Given the description of an element on the screen output the (x, y) to click on. 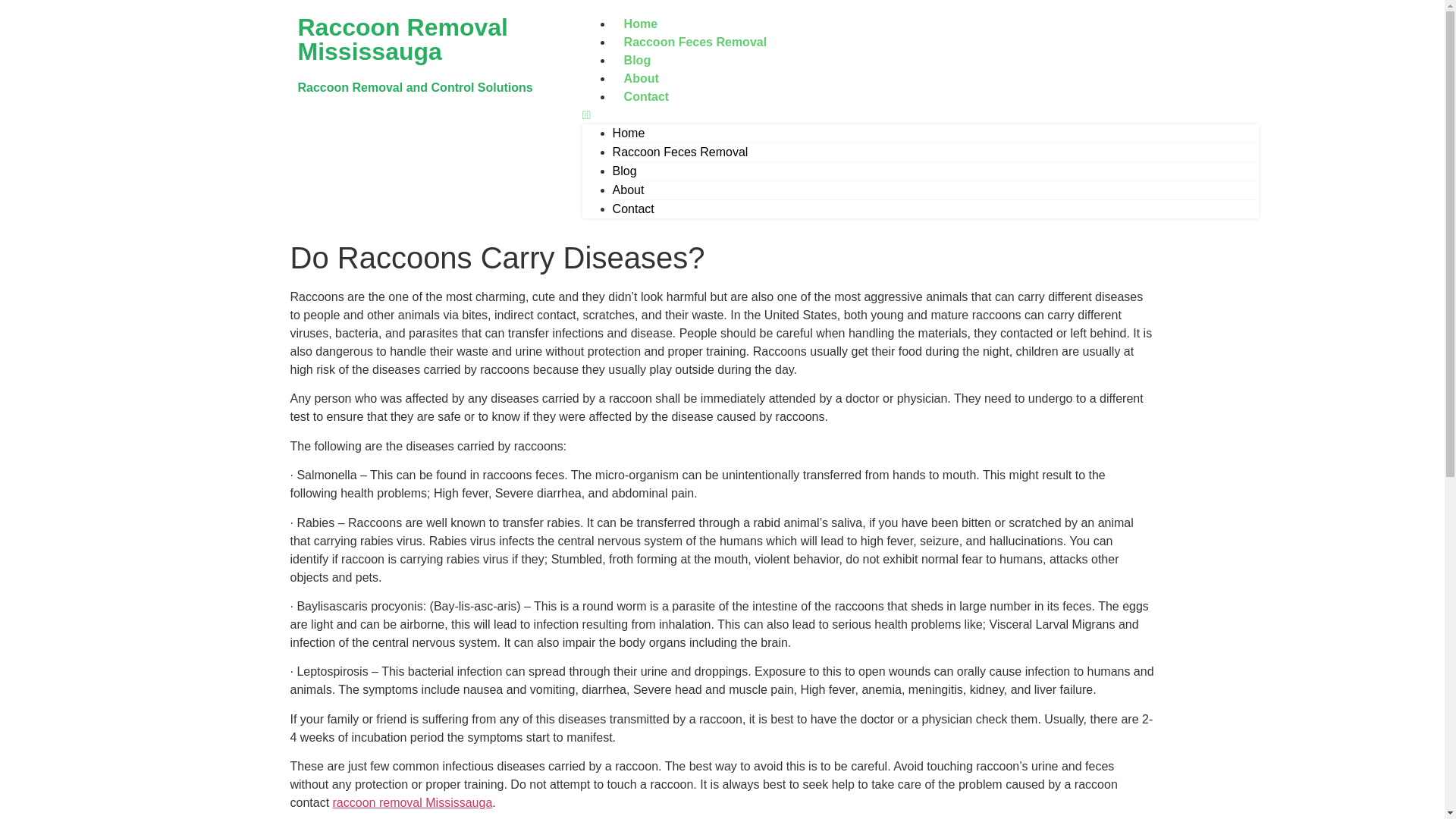
Raccoon Removal Mississauga (401, 39)
Raccoon Feces Removal (695, 41)
Contact (646, 96)
Home (628, 132)
Blog (637, 59)
raccoon removal Mississauga (413, 802)
About (640, 78)
About (628, 189)
Contact (632, 208)
Raccoon Feces Removal (680, 151)
